Given the description of an element on the screen output the (x, y) to click on. 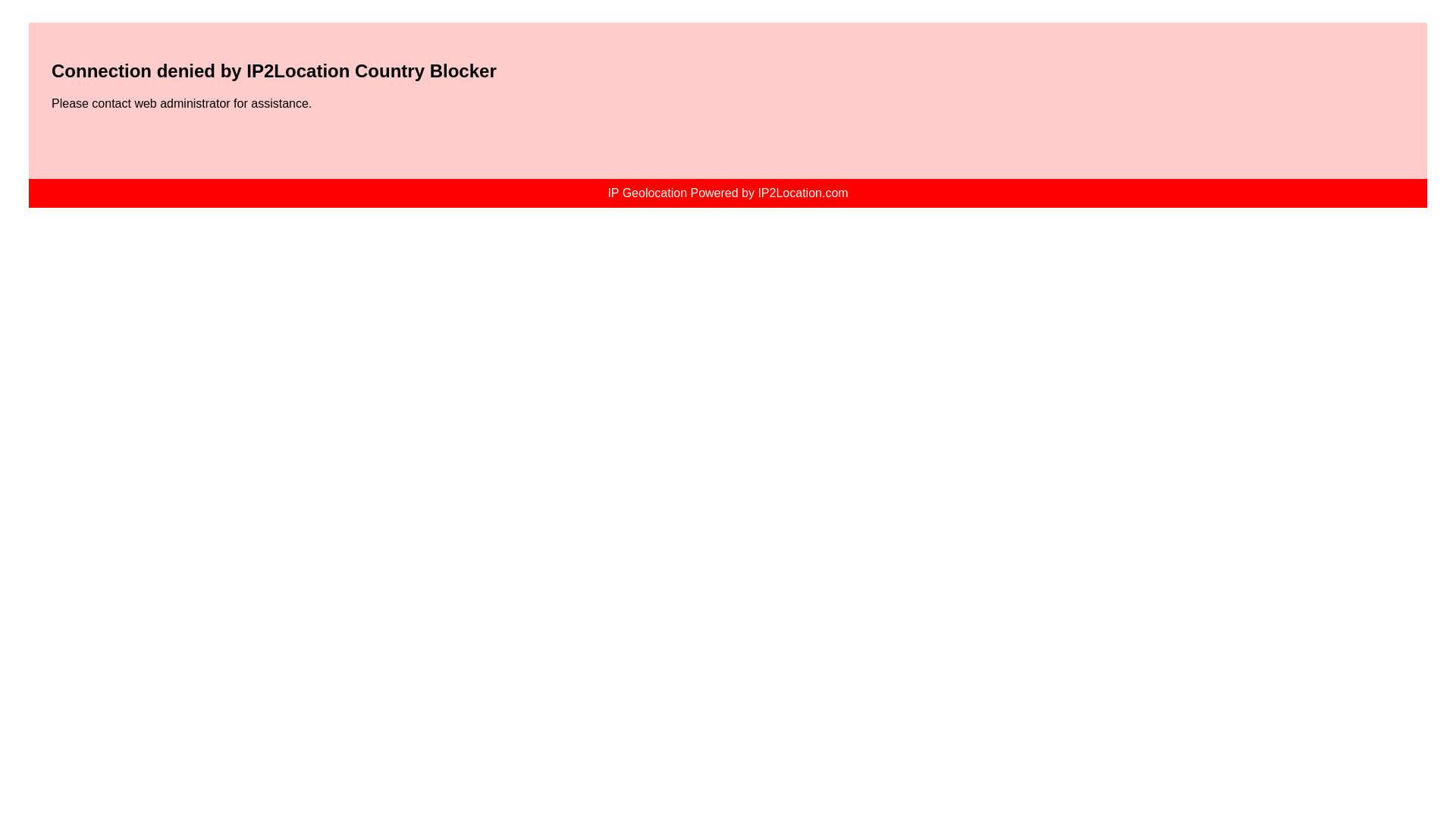
IP Geolocation Powered by IP2Location.com (727, 192)
